Given the description of an element on the screen output the (x, y) to click on. 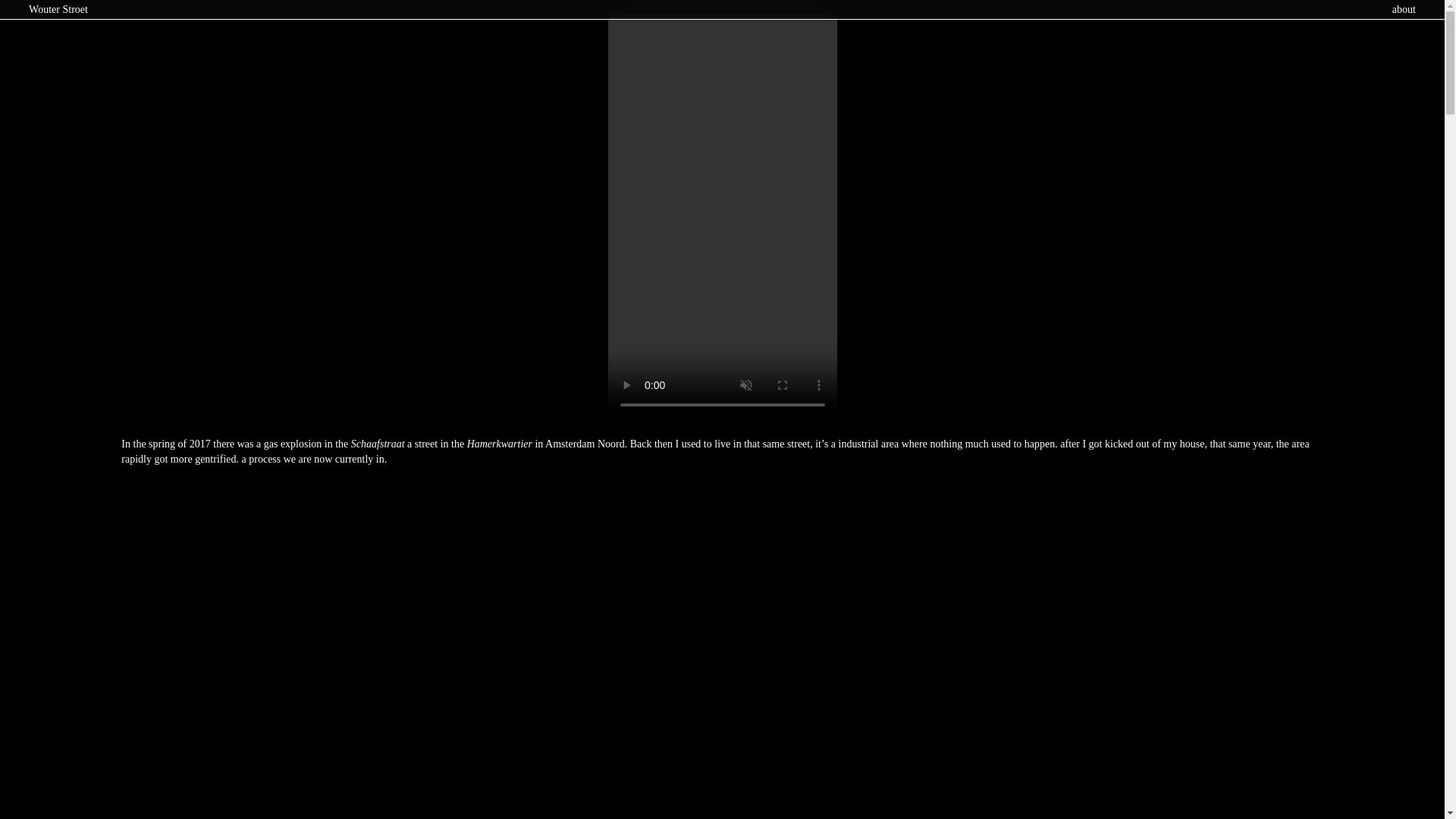
about (1403, 9)
Wouter Stroet (58, 9)
